Given the description of an element on the screen output the (x, y) to click on. 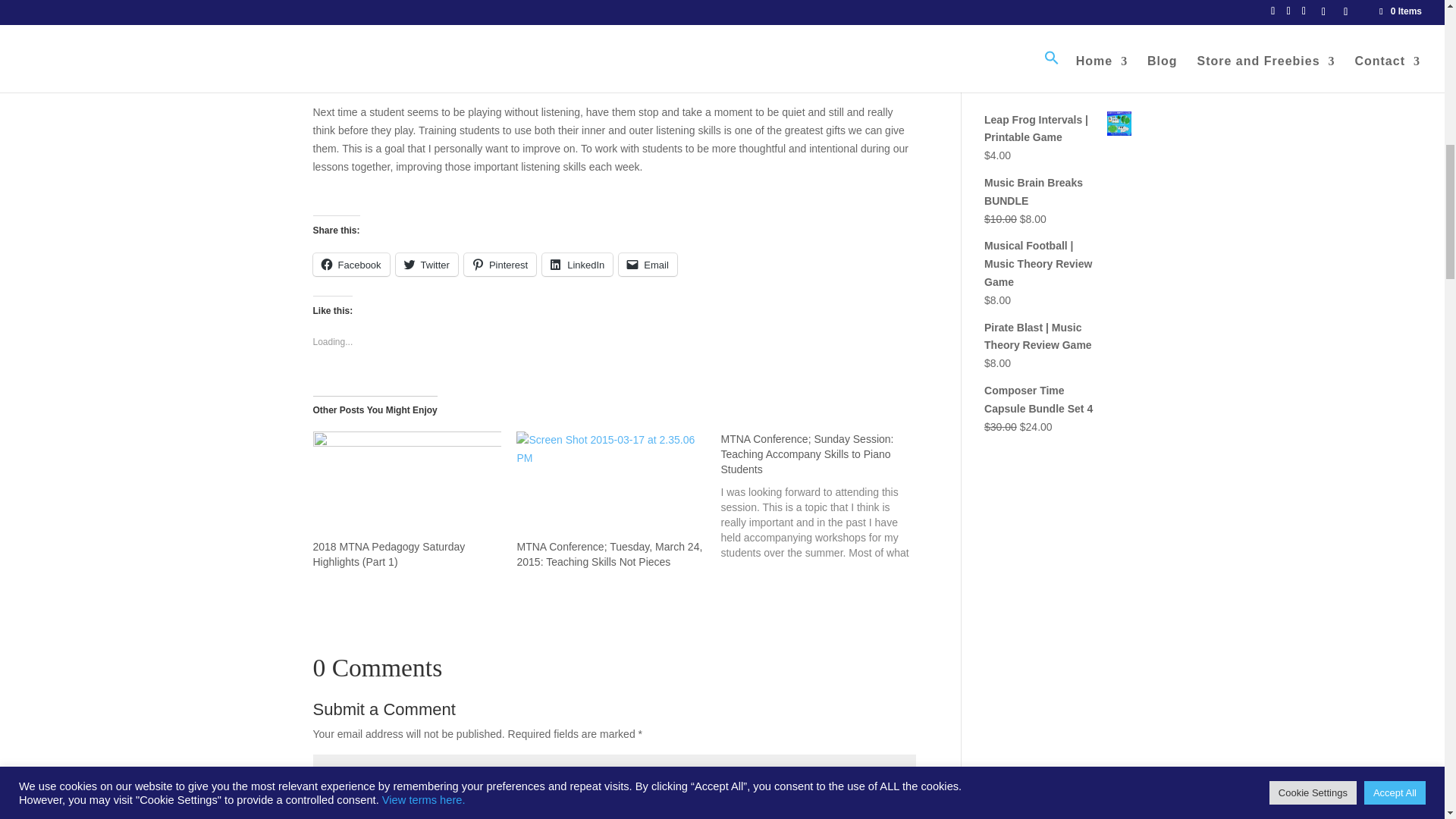
Click to share on LinkedIn (576, 264)
Click to share on Pinterest (499, 264)
Click to email a link to a friend (647, 264)
Click to share on Facebook (350, 264)
Click to share on Twitter (427, 264)
